Given the description of an element on the screen output the (x, y) to click on. 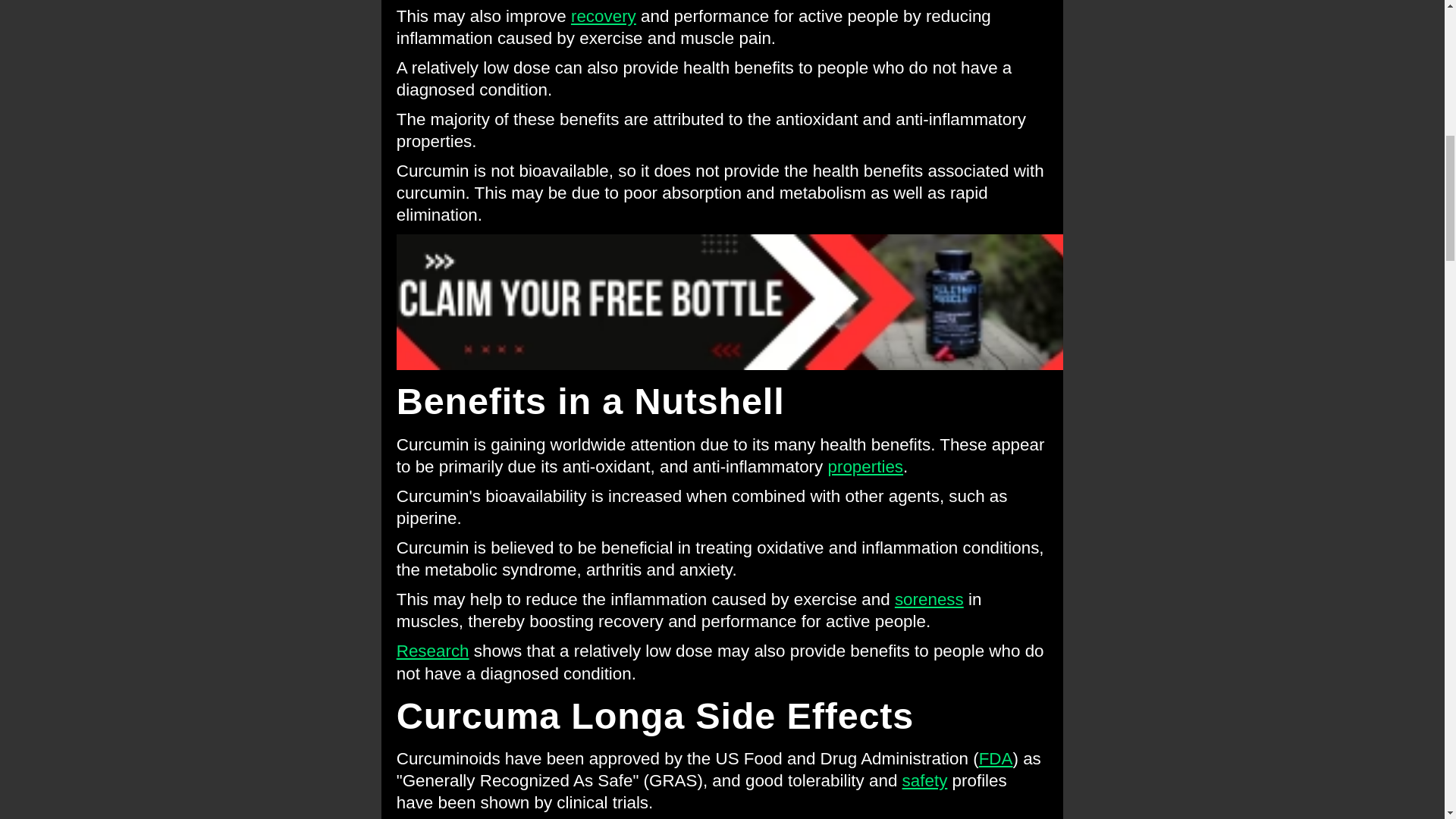
FDA (995, 758)
soreness (929, 599)
safety (924, 780)
recovery (603, 15)
